Given the description of an element on the screen output the (x, y) to click on. 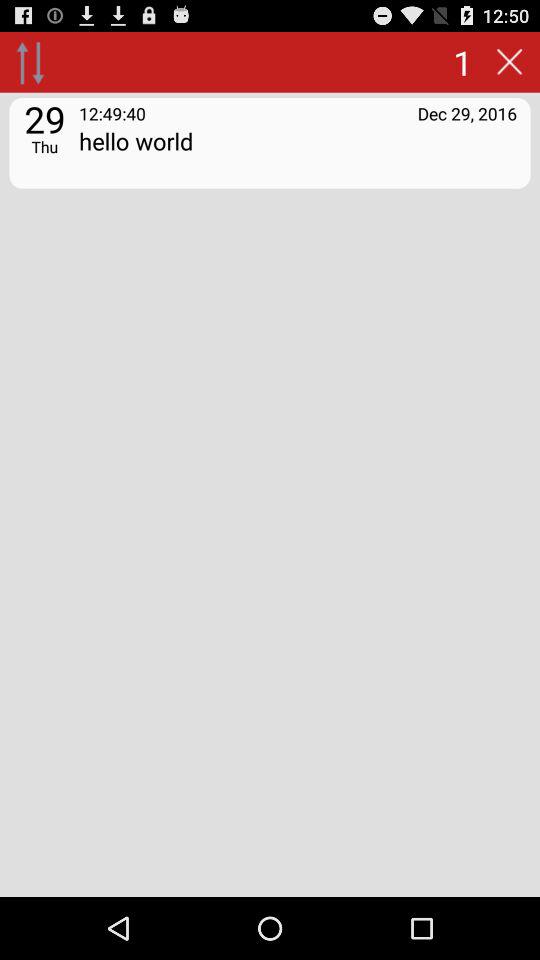
from and to option (30, 61)
